Given the description of an element on the screen output the (x, y) to click on. 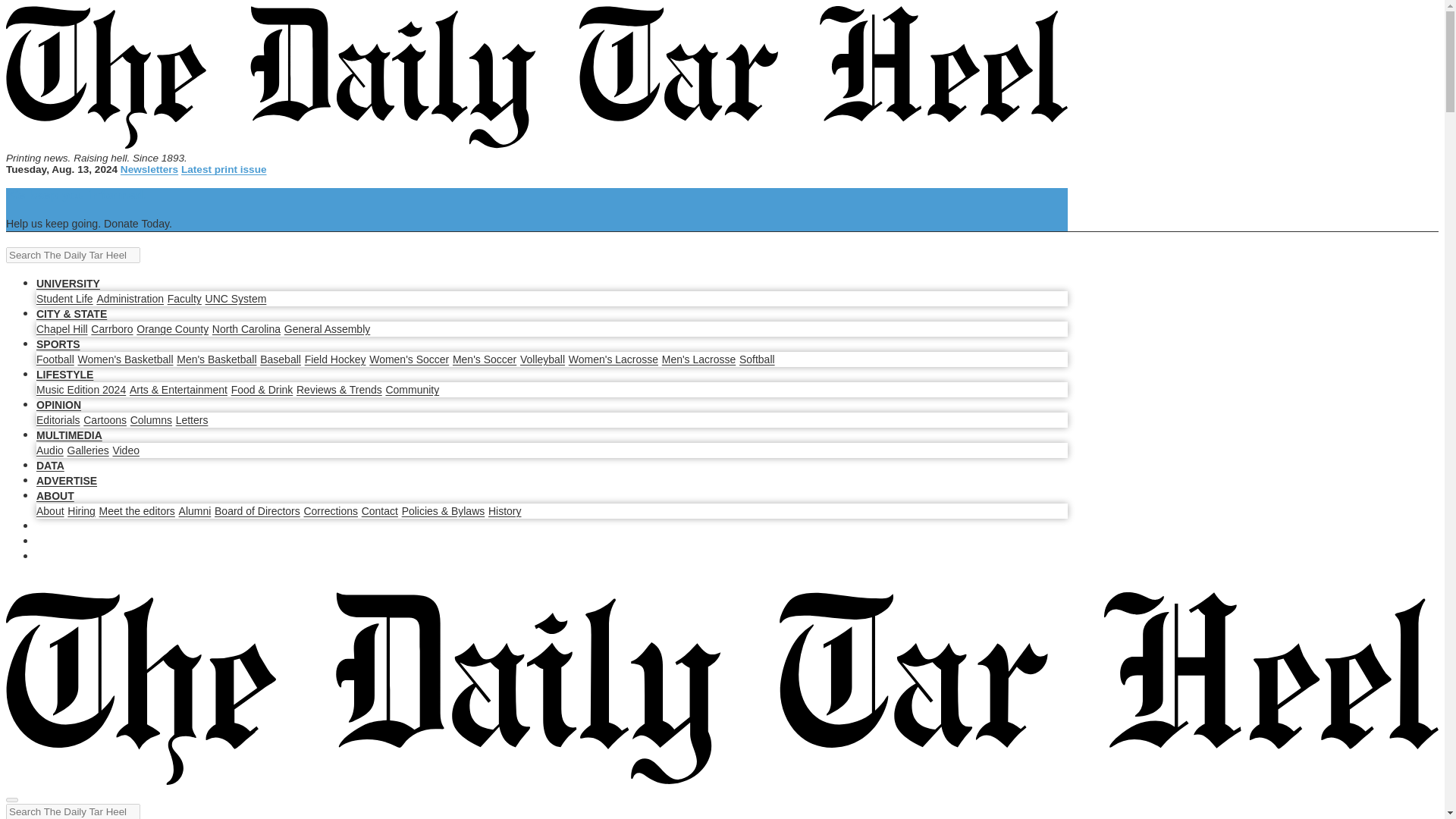
Women's Basketball (125, 358)
Music Edition 2024 (80, 389)
North Carolina (246, 328)
Women's Lacrosse (613, 358)
General Assembly (326, 328)
Editorials (58, 419)
Softball (756, 358)
UNC System (235, 298)
Student Life (64, 298)
LIFESTYLE (64, 374)
